Given the description of an element on the screen output the (x, y) to click on. 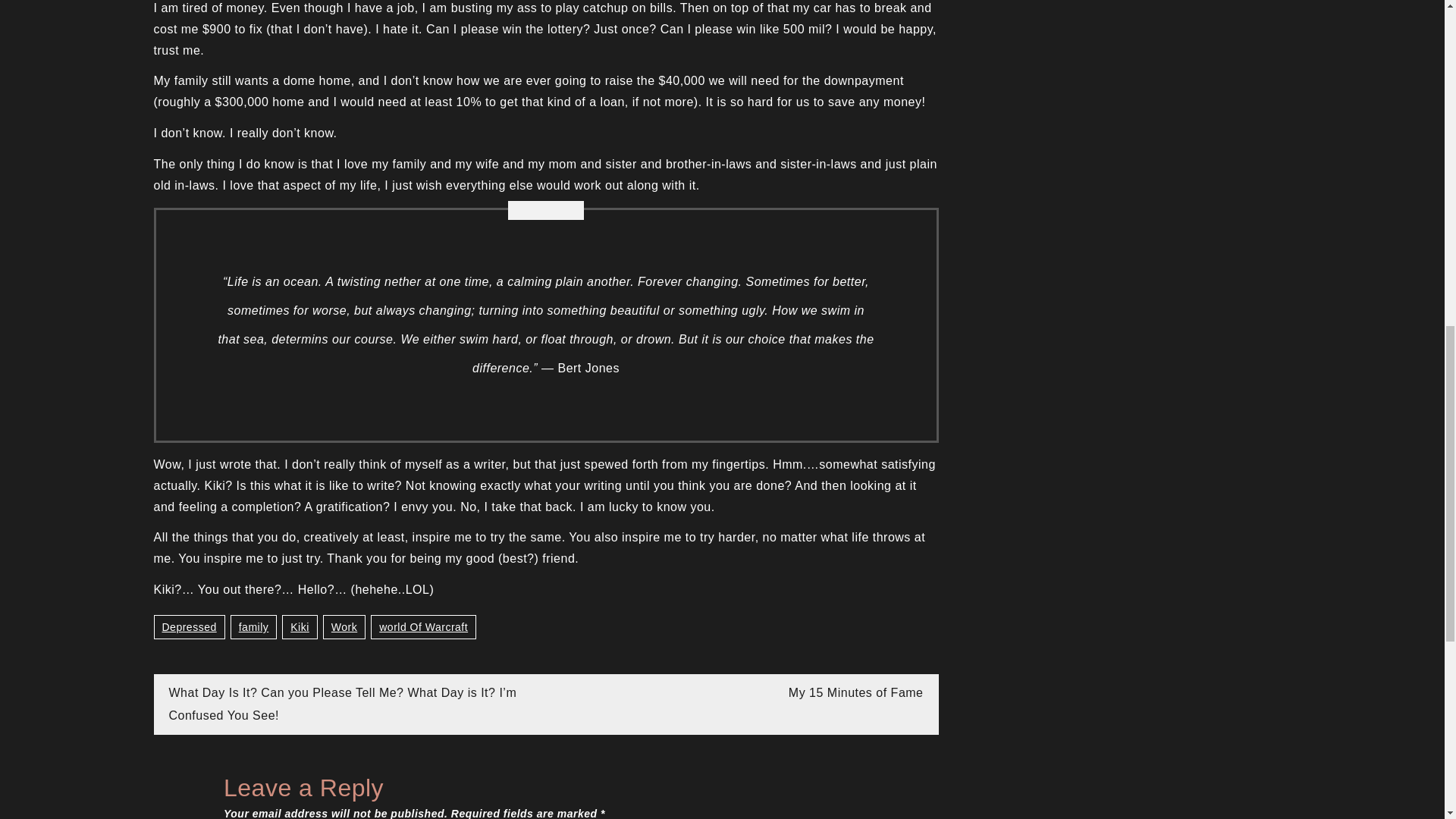
Depressed (188, 627)
Kiki (299, 627)
Work (344, 627)
World Of Warcraft (423, 627)
My 15 Minutes of Fame (856, 692)
Family (254, 627)
